Given the description of an element on the screen output the (x, y) to click on. 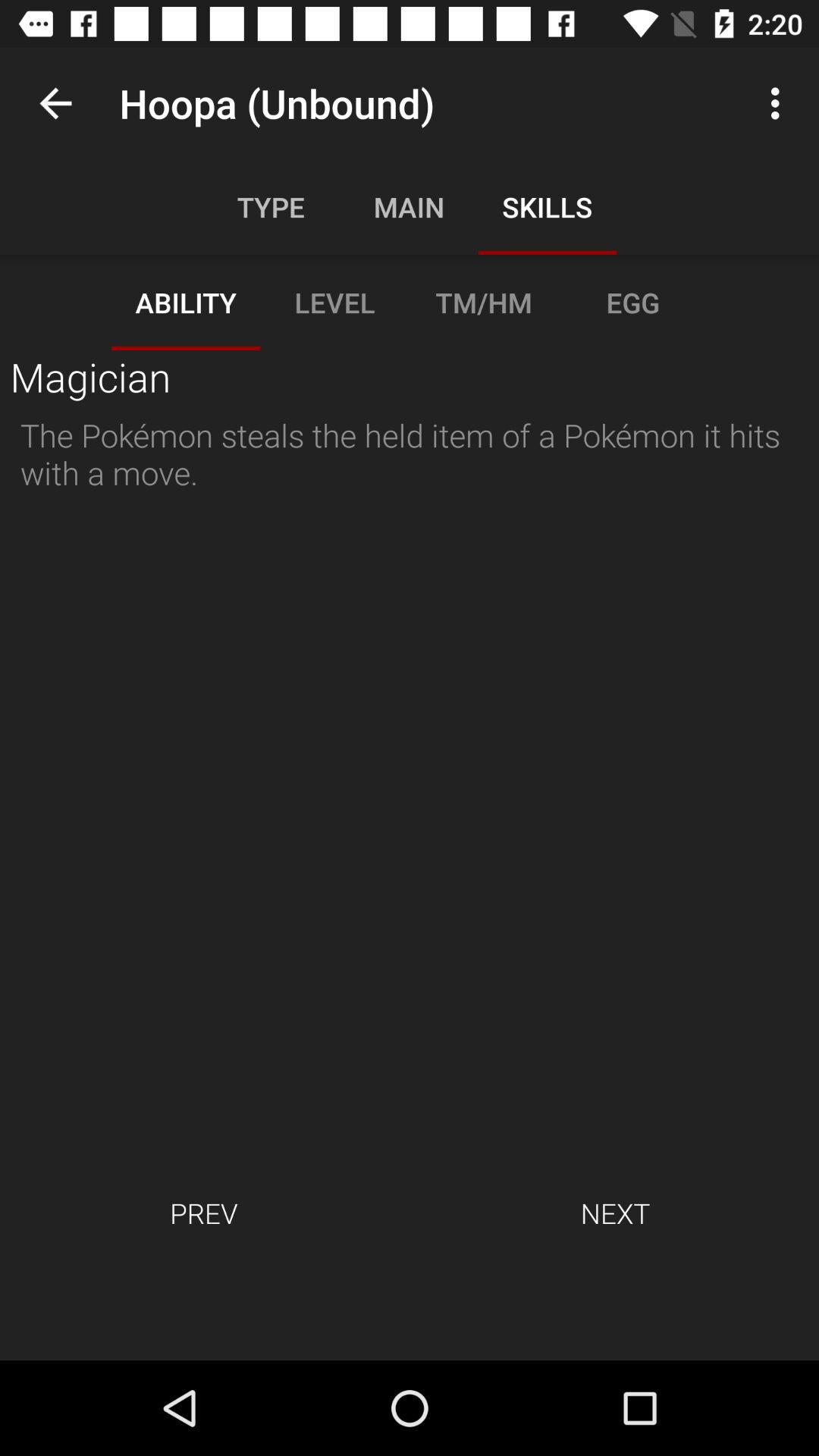
choose icon to the left of the next (203, 1212)
